Given the description of an element on the screen output the (x, y) to click on. 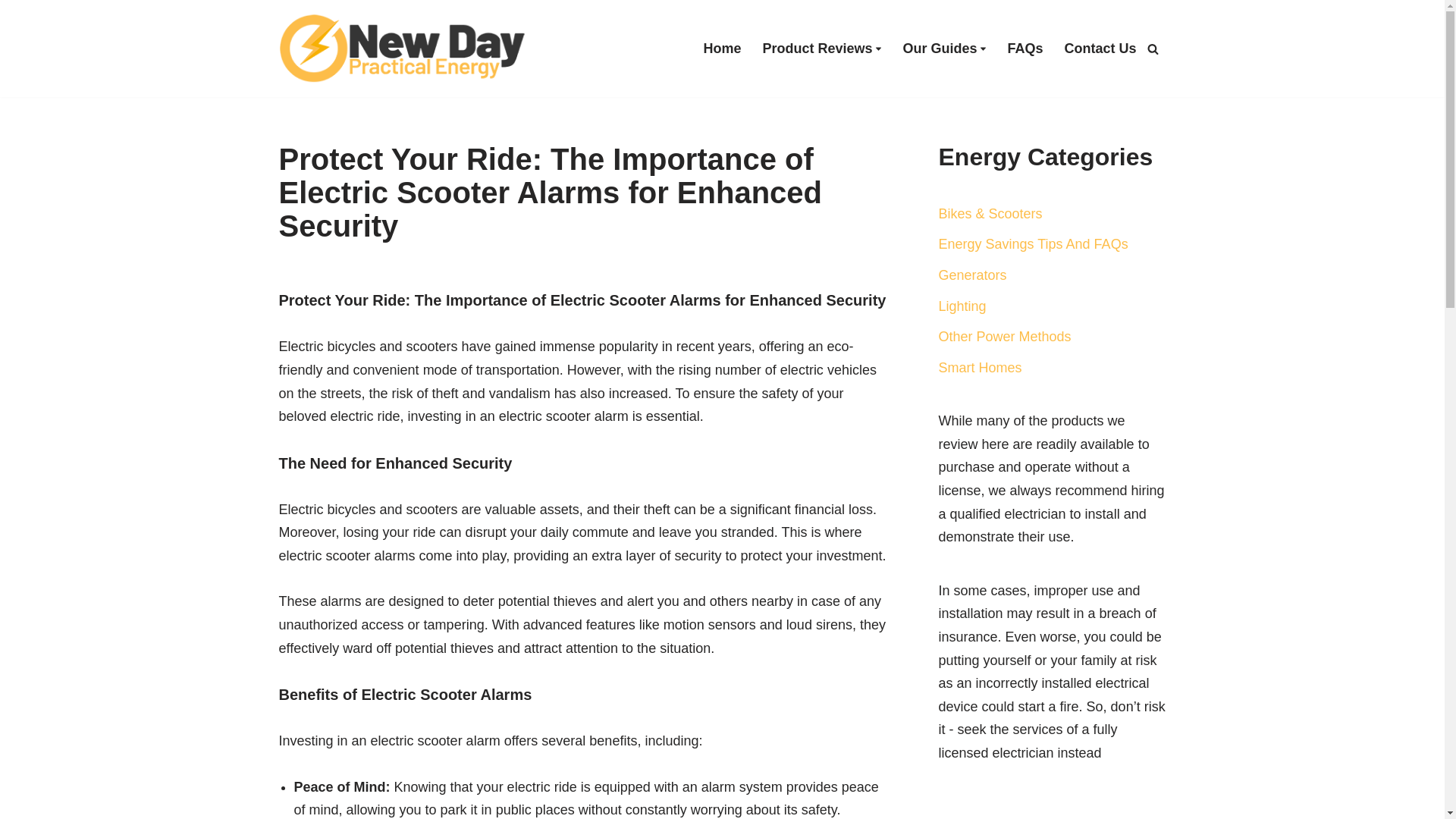
Our Guides (939, 47)
Contact Us (1099, 47)
FAQs (1024, 47)
Product Reviews (816, 47)
Skip to content (11, 31)
Home (722, 47)
